Given the description of an element on the screen output the (x, y) to click on. 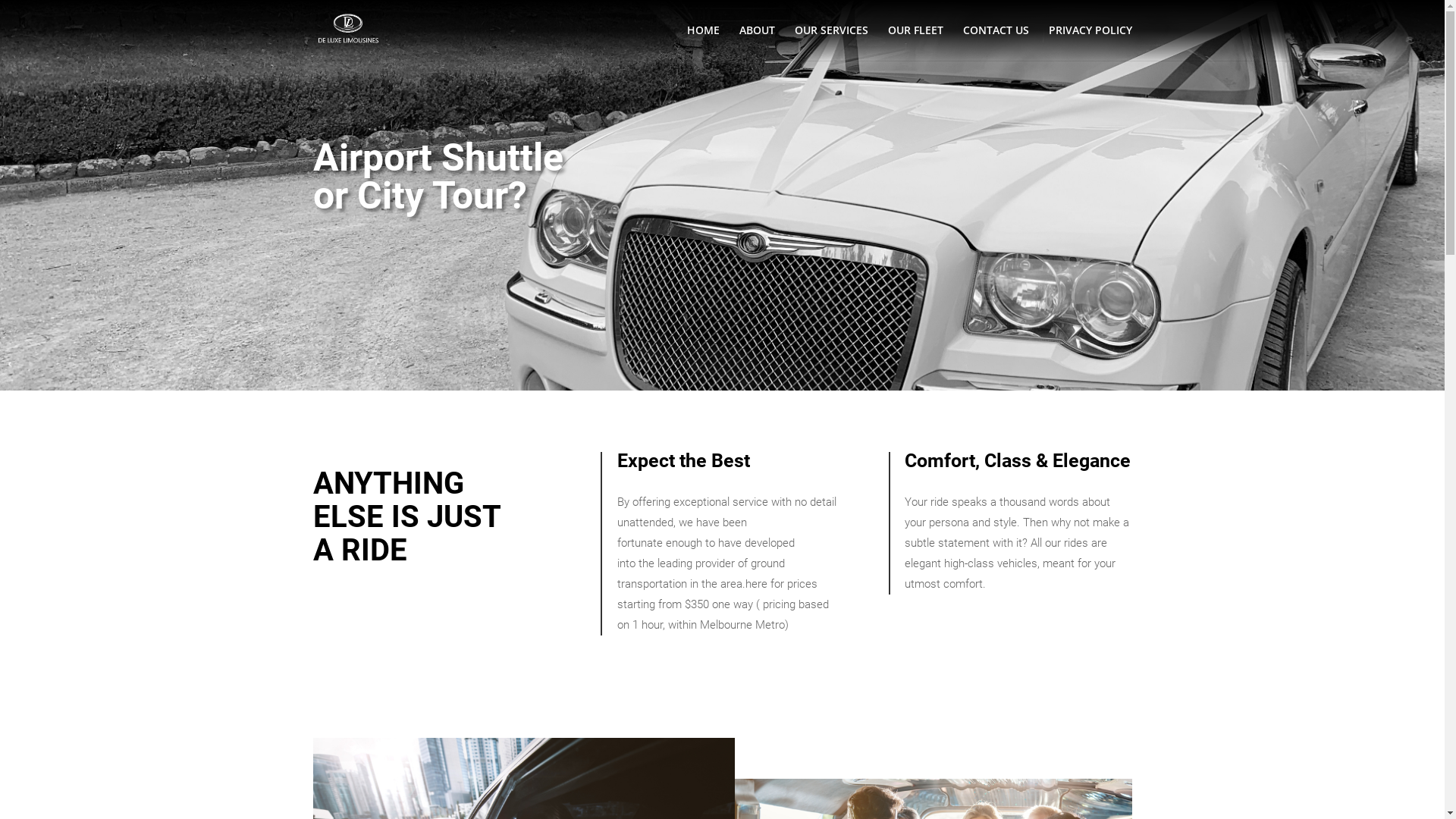
ABOUT Element type: text (756, 42)
OUR SERVICES Element type: text (831, 42)
CONTACT US Element type: text (996, 42)
OUR FLEET Element type: text (914, 42)
HOME Element type: text (703, 42)
PRIVACY POLICY Element type: text (1089, 42)
